Given the description of an element on the screen output the (x, y) to click on. 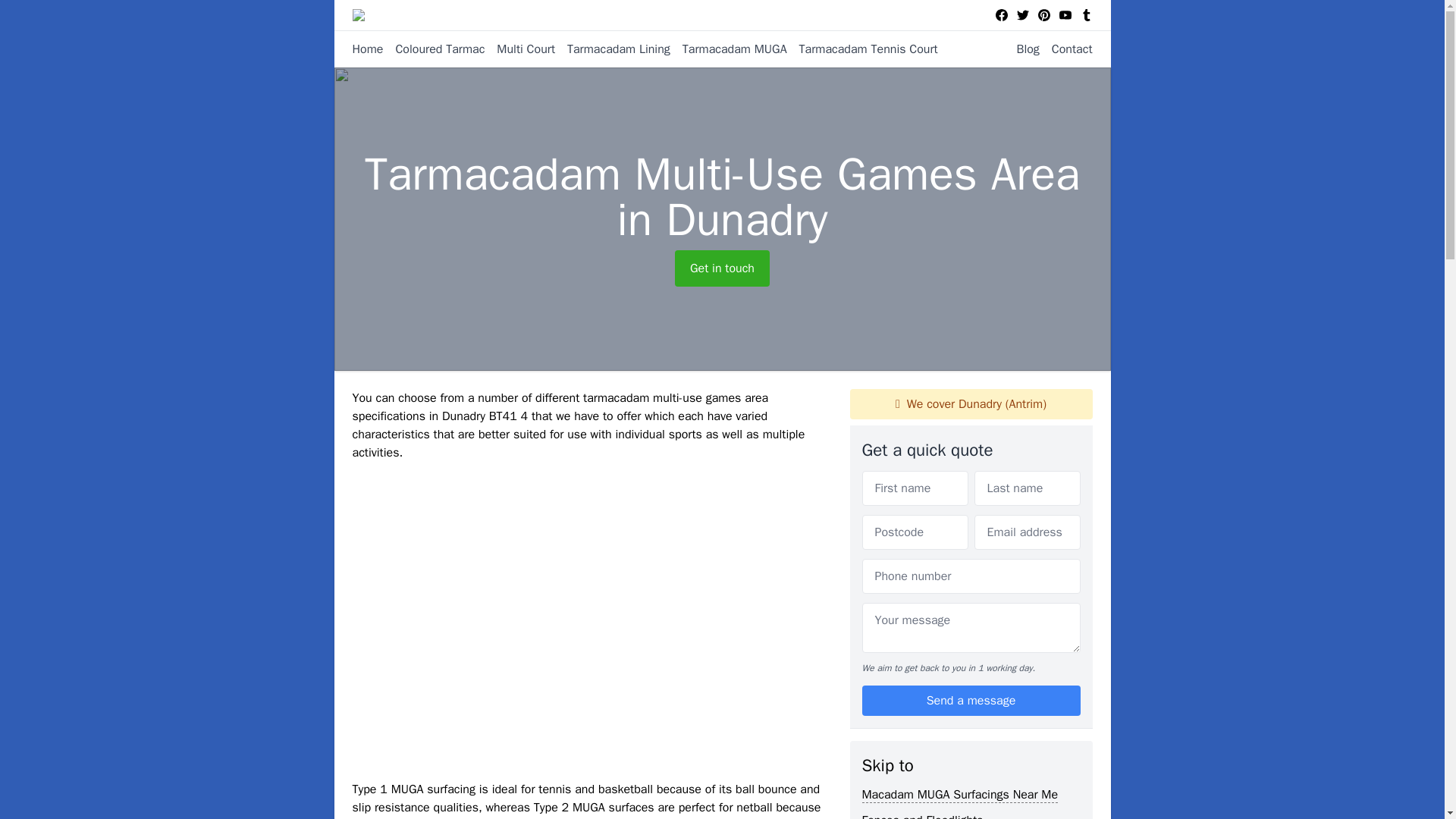
Contact (1066, 48)
Blog (1021, 48)
Fences and Floodlights (921, 816)
Tarmacadam Tennis Court (862, 49)
Macadam MUGA Surfacings Near Me (959, 795)
Send a message (970, 700)
Multi Court (519, 49)
Macadam MUGA Surfacings Near Me (959, 795)
Tarmacadam MUGA (728, 49)
Coloured Tarmac (433, 49)
Fences and Floodlights (921, 816)
Tarmacadam Lining (611, 49)
Home (367, 49)
Get in touch (722, 268)
